Given the description of an element on the screen output the (x, y) to click on. 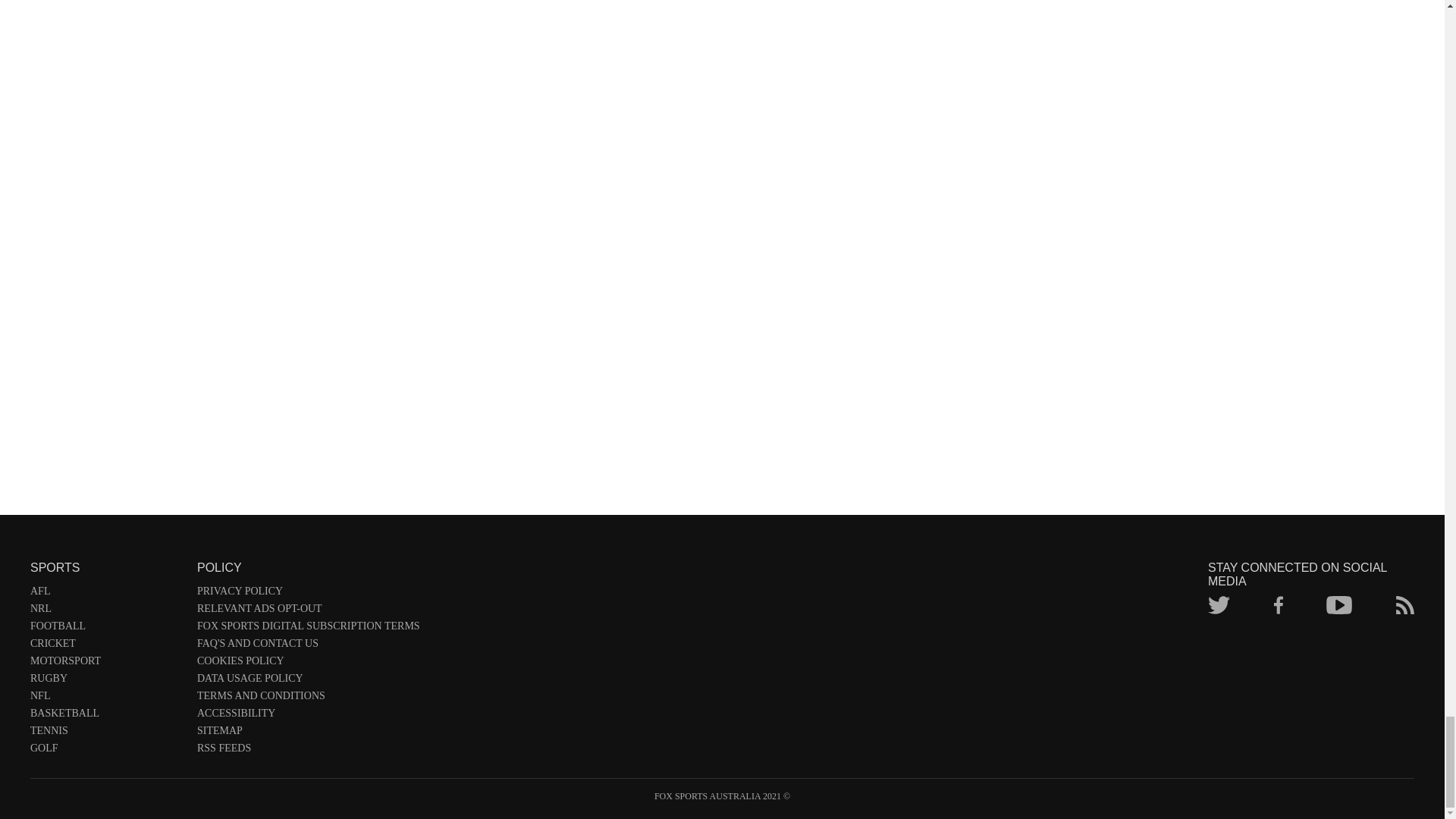
NFL (106, 698)
SITEMAP (308, 733)
RELEVANT ADS OPT-OUT (308, 610)
MOTORSPORT (106, 663)
NRL (106, 610)
FOX SPORTS DIGITAL SUBSCRIPTION TERMS (308, 628)
RSS FEEDS (308, 751)
COOKIES POLICY (308, 663)
CRICKET (106, 646)
PRIVACY POLICY (308, 593)
